Given the description of an element on the screen output the (x, y) to click on. 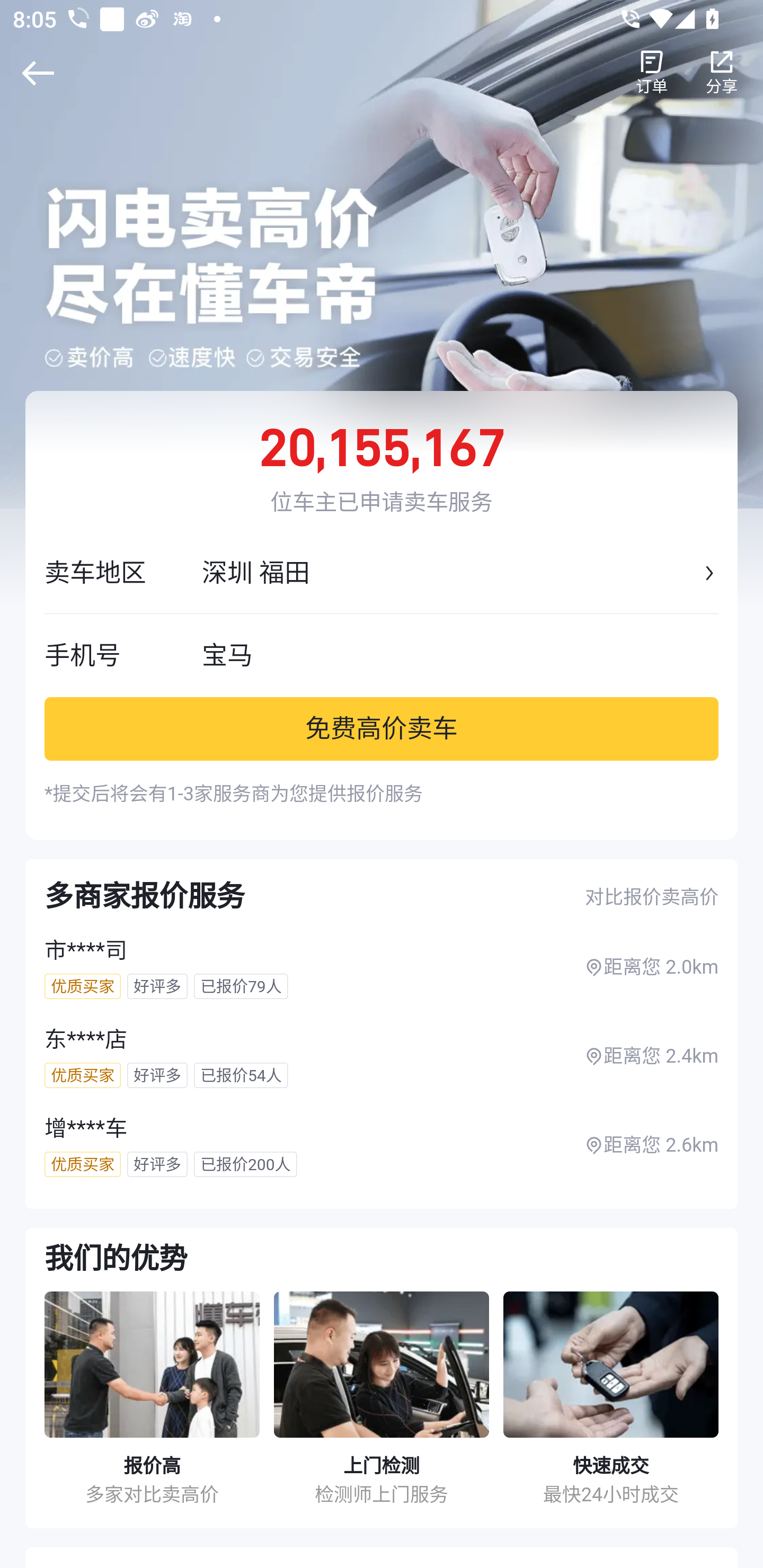
订单 (651, 72)
分享 (721, 72)
深圳 福田 (450, 572)
宝马 (460, 655)
免费高价卖车 (381, 728)
